Given the description of an element on the screen output the (x, y) to click on. 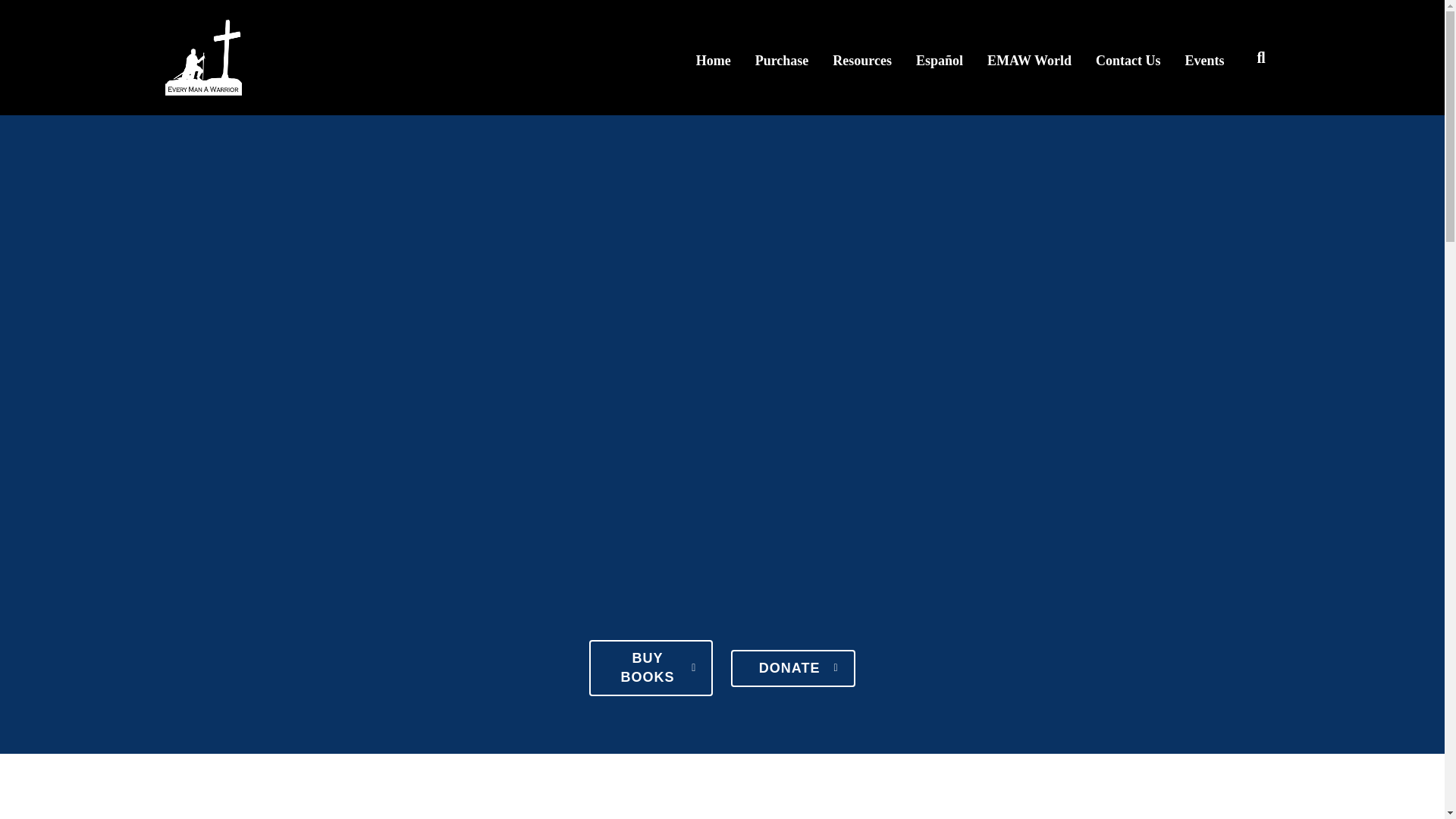
EMAW World (1029, 57)
Contact Us (1128, 57)
Purchase (782, 57)
Resources (861, 57)
BUY BOOKS (651, 667)
logo (203, 57)
DONATE (792, 668)
